Given the description of an element on the screen output the (x, y) to click on. 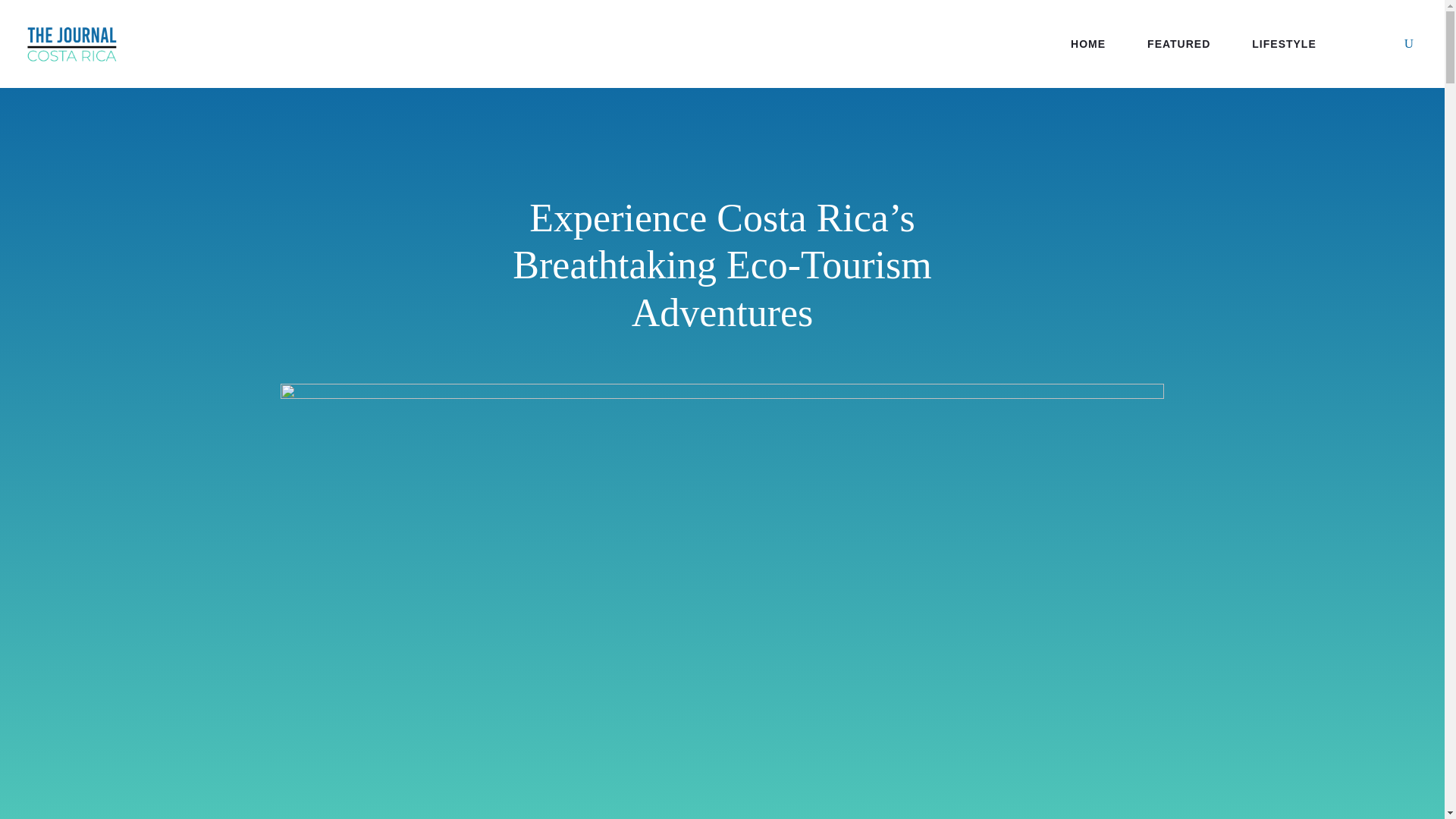
FEATURED (1178, 43)
experience-costa-ricas-breathtaking-eco-tourism-adventures-1 (722, 395)
LIFESTYLE (1284, 43)
